Given the description of an element on the screen output the (x, y) to click on. 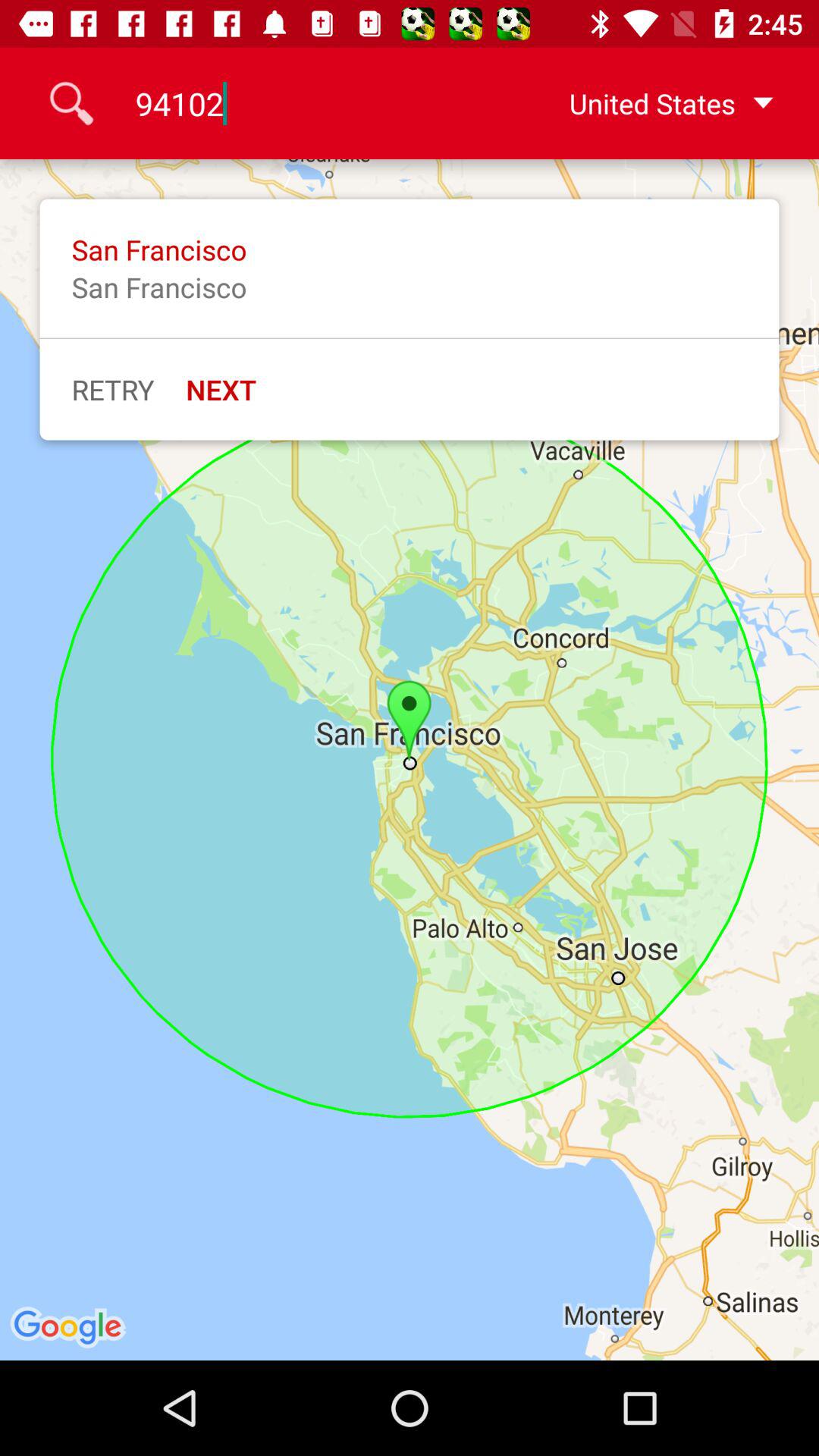
jump to the 94102 item (309, 103)
